Given the description of an element on the screen output the (x, y) to click on. 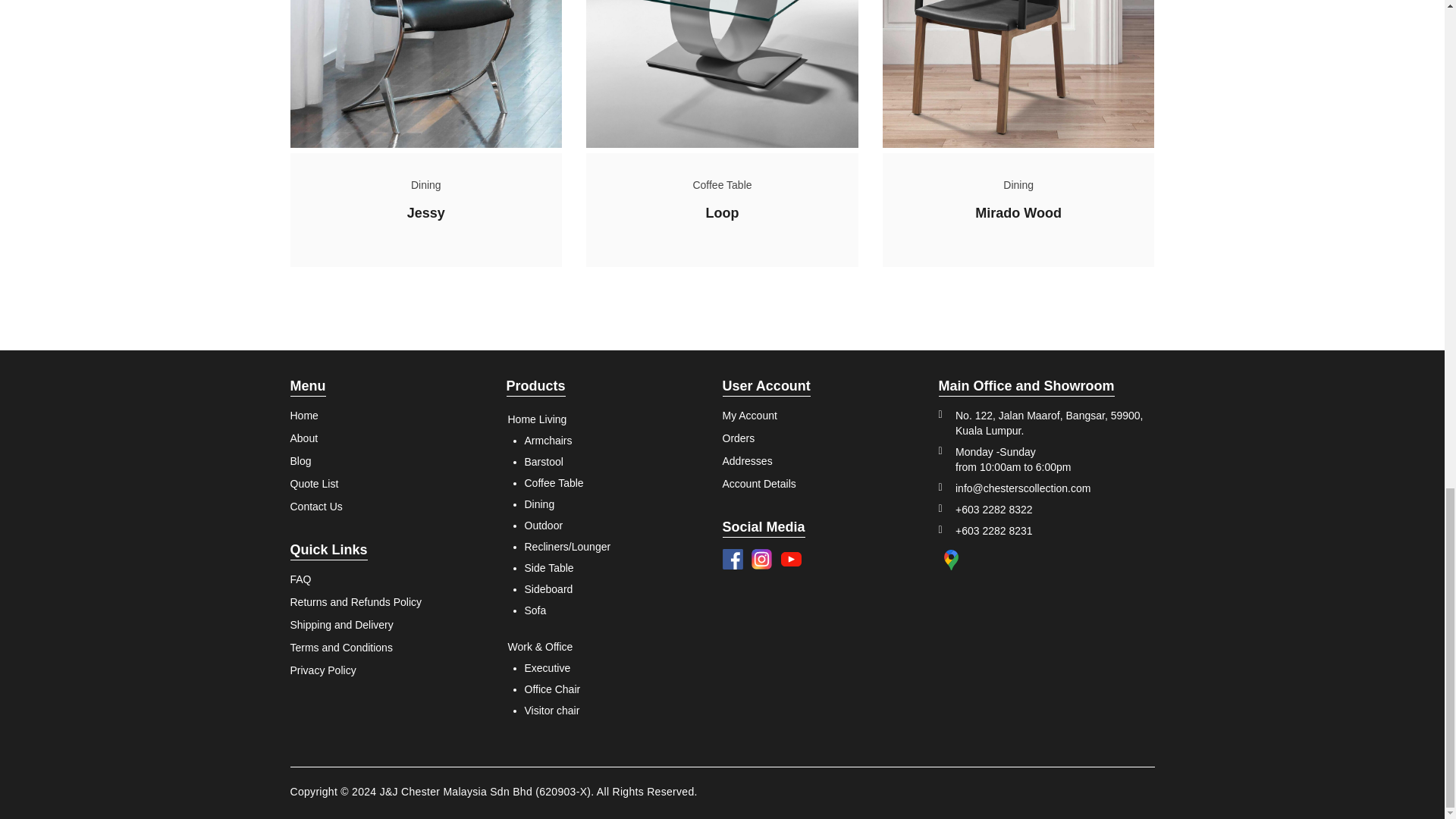
Contact Us (315, 506)
Mirado Wood (1018, 212)
Home (315, 415)
Dining (425, 184)
Coffee Table (722, 184)
Quote List (315, 483)
FAQ (355, 579)
Loop (721, 212)
Blog (315, 460)
Returns and Refunds Policy (355, 601)
About (315, 437)
Jessy (426, 212)
Dining (1018, 184)
